Given the description of an element on the screen output the (x, y) to click on. 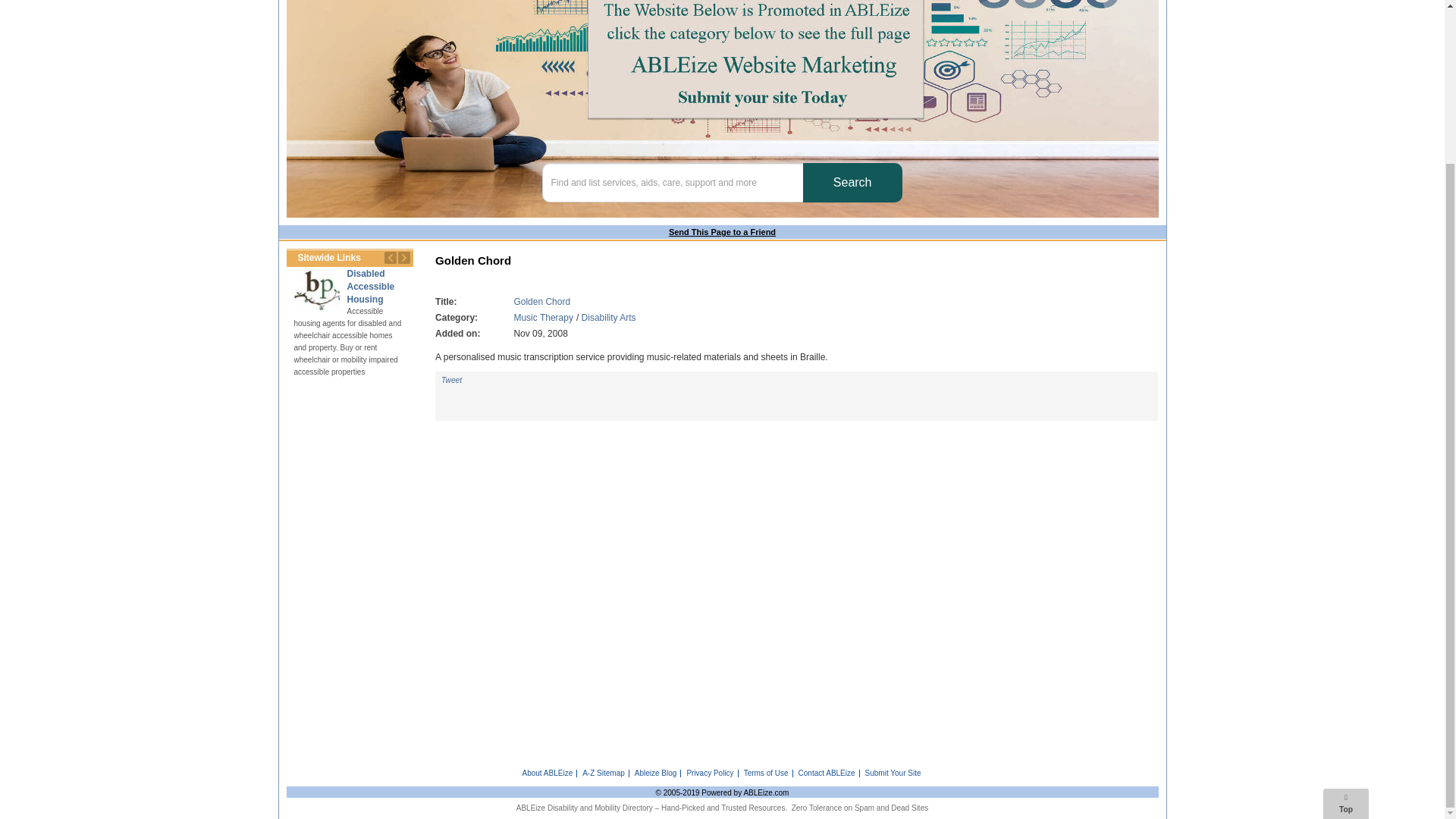
Search (852, 182)
Next (404, 257)
Disability Arts (608, 317)
Search (852, 182)
Music Therapy (542, 317)
Disabled Accessible Housing (316, 289)
Disabled Accessible Housing (370, 286)
Search (852, 182)
Golden Chord (541, 301)
CareCo Mobility Providers (426, 289)
Previous (389, 257)
